Given the description of an element on the screen output the (x, y) to click on. 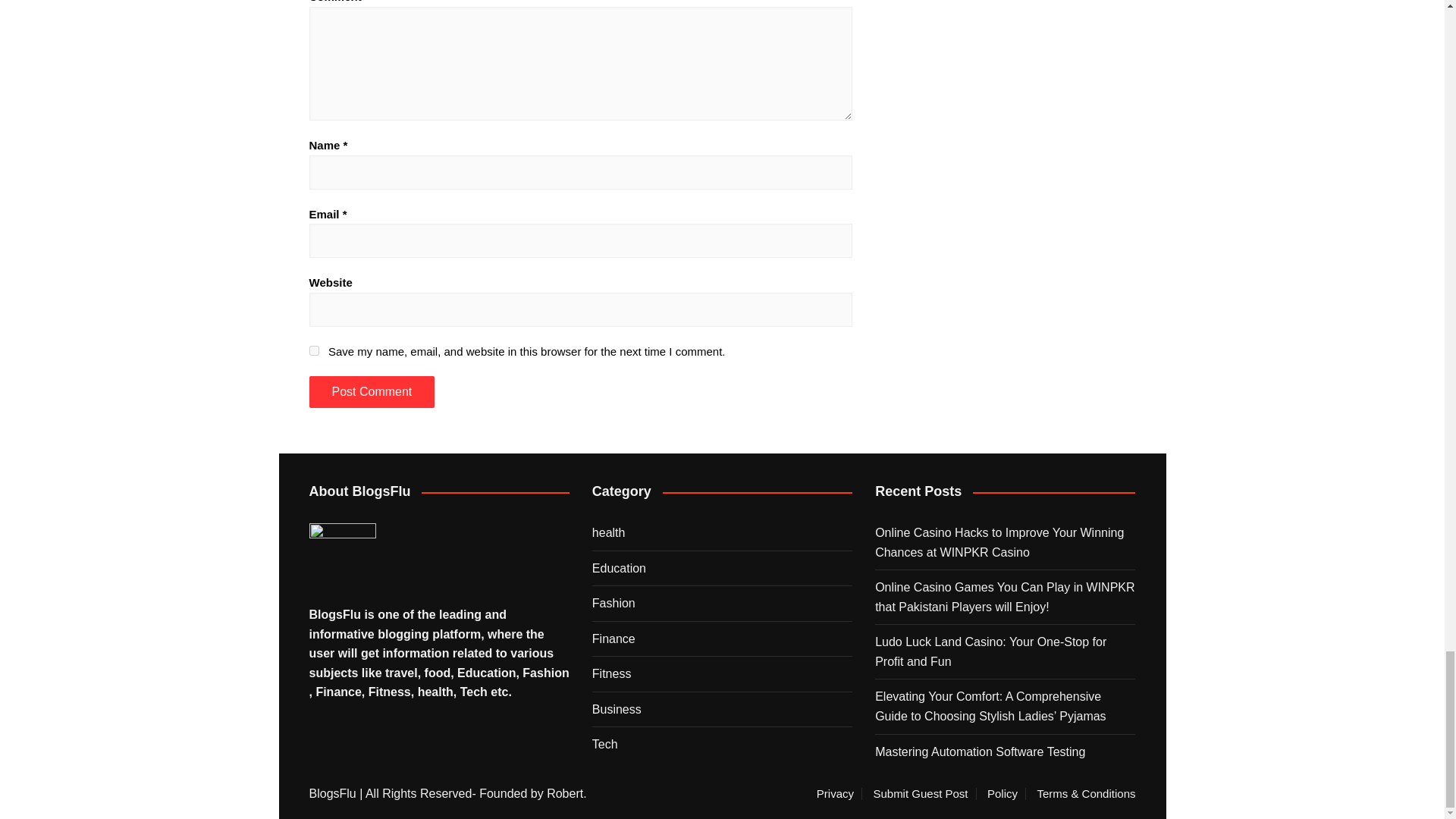
Post Comment (371, 391)
yes (313, 350)
